Given the description of an element on the screen output the (x, y) to click on. 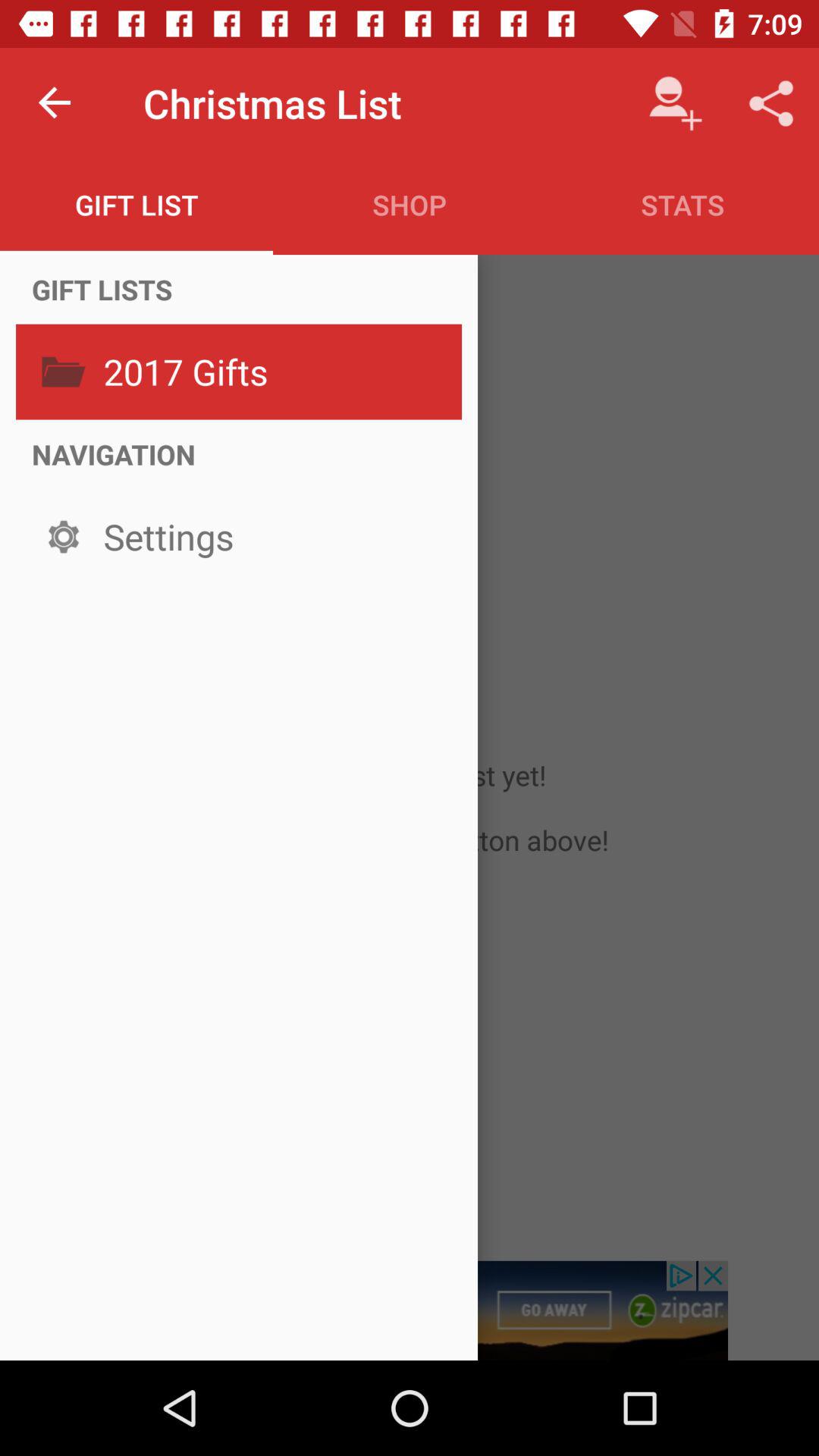
turn on item to the left of the christmas list item (55, 103)
